Given the description of an element on the screen output the (x, y) to click on. 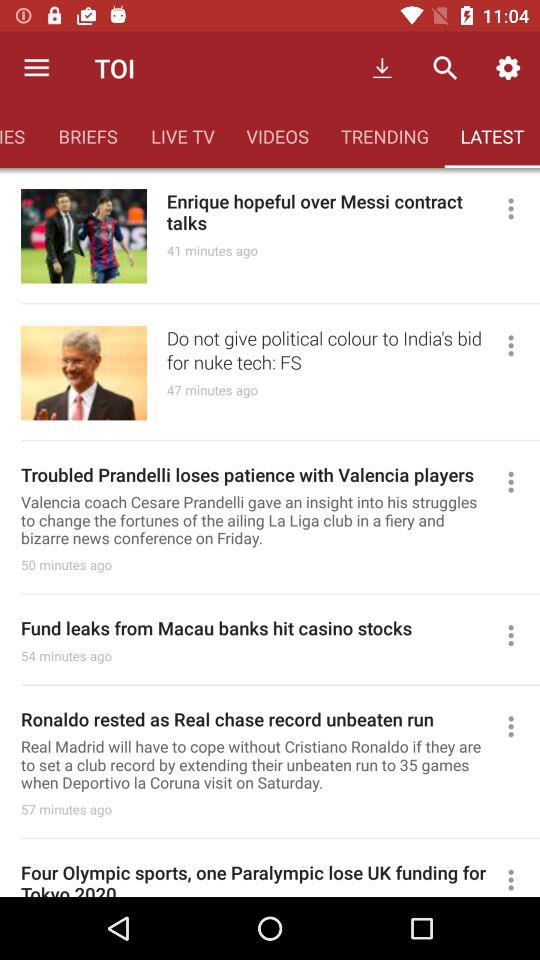
click on the search icon (445, 68)
select the 4th menu icon from the top of the page (519, 635)
select the first icon which is right to the text toi (382, 68)
select the menu which is at the bottom right side of the page (519, 878)
